Given the description of an element on the screen output the (x, y) to click on. 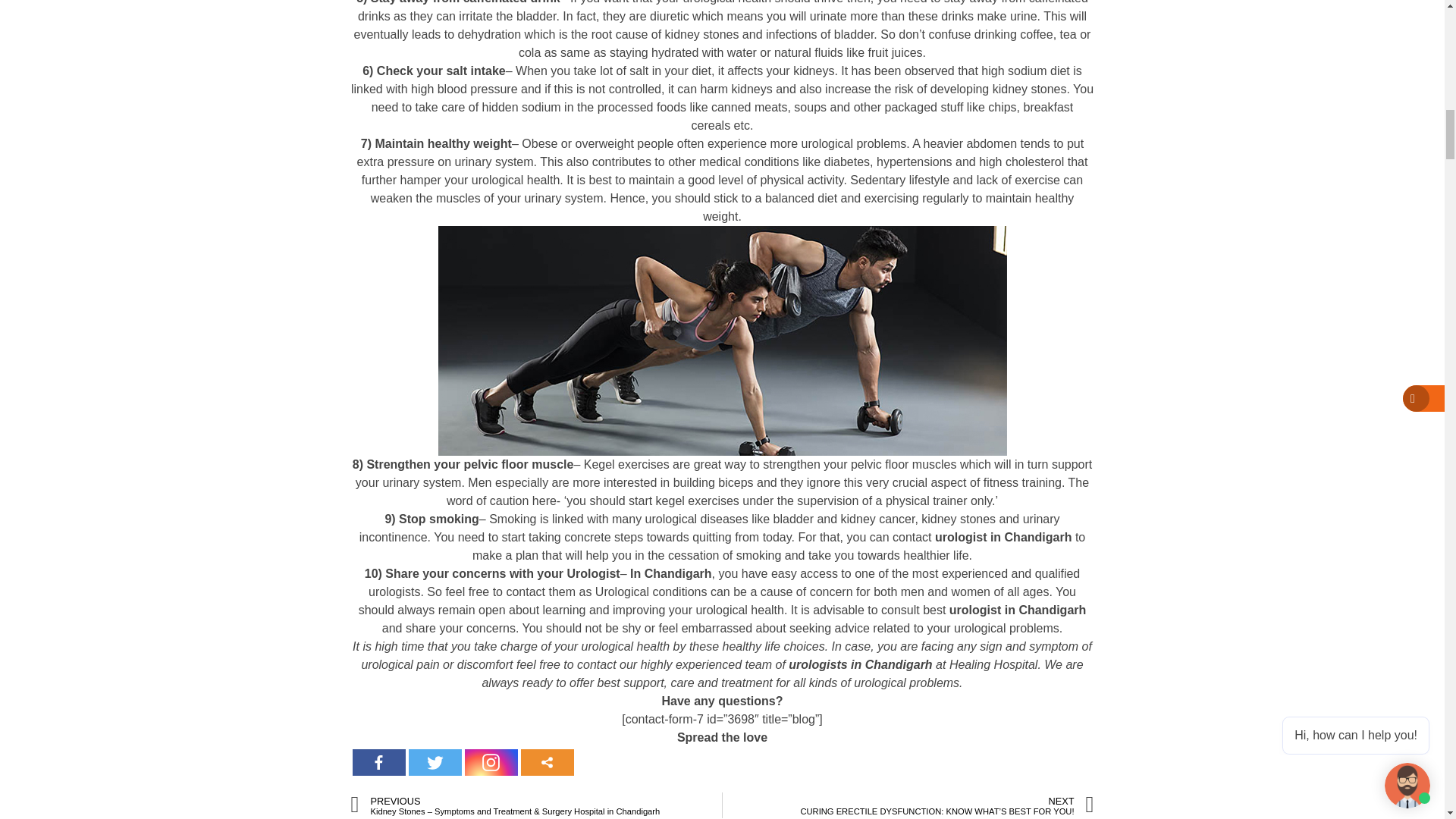
Twitter (434, 762)
urologists in Chandigarh (860, 664)
More (546, 762)
Facebook (378, 762)
Instagram (490, 762)
